Given the description of an element on the screen output the (x, y) to click on. 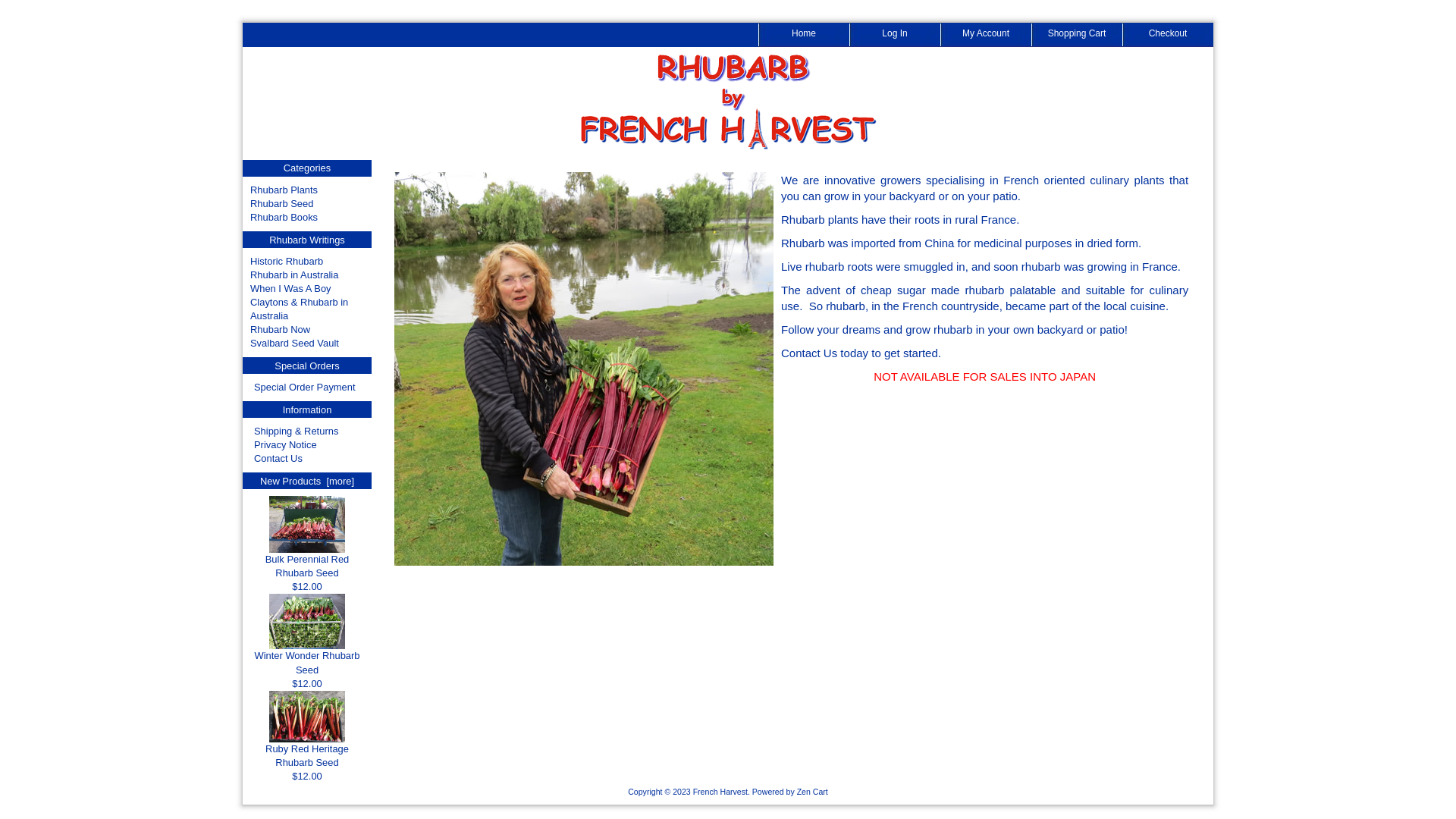
Svalbard Seed Vault Element type: text (294, 342)
Winter Wonder Rhubarb Seed Element type: text (306, 657)
New Products  [more] Element type: text (307, 480)
Contact Us Element type: text (278, 458)
French Harvest Element type: hover (727, 101)
Historic Rhubarb Element type: text (286, 260)
Claytons & Rhubarb in Australia Element type: text (299, 308)
Winter Wonder Rhubarb Seed Element type: hover (307, 621)
Rhubarb in Australia Element type: text (294, 274)
Zen Cart Element type: text (812, 791)
Contact Us Element type: text (809, 352)
Shopping Cart Element type: text (1076, 34)
My Account Element type: text (985, 34)
Rhubarb Books Element type: text (283, 216)
Special Order Payment Element type: text (304, 386)
Rhubarb Plants Element type: text (283, 189)
Checkout Element type: text (1167, 34)
Ruby Red Heritage Rhubarb Seed Element type: hover (307, 716)
Rhubarb Now Element type: text (280, 329)
French Harvest Element type: text (720, 791)
Log In Element type: text (894, 34)
Ruby Red Heritage Rhubarb Seed Element type: text (306, 750)
Home Element type: text (803, 34)
Bulk Perennial Red Rhubarb Seed Element type: text (307, 560)
Bulk Perennial Red Rhubarb Seed Element type: hover (307, 523)
Rhubarb Seed Element type: text (281, 203)
Shipping & Returns Element type: text (296, 430)
Privacy Notice Element type: text (285, 444)
When I Was A Boy Element type: text (290, 288)
